Given the description of an element on the screen output the (x, y) to click on. 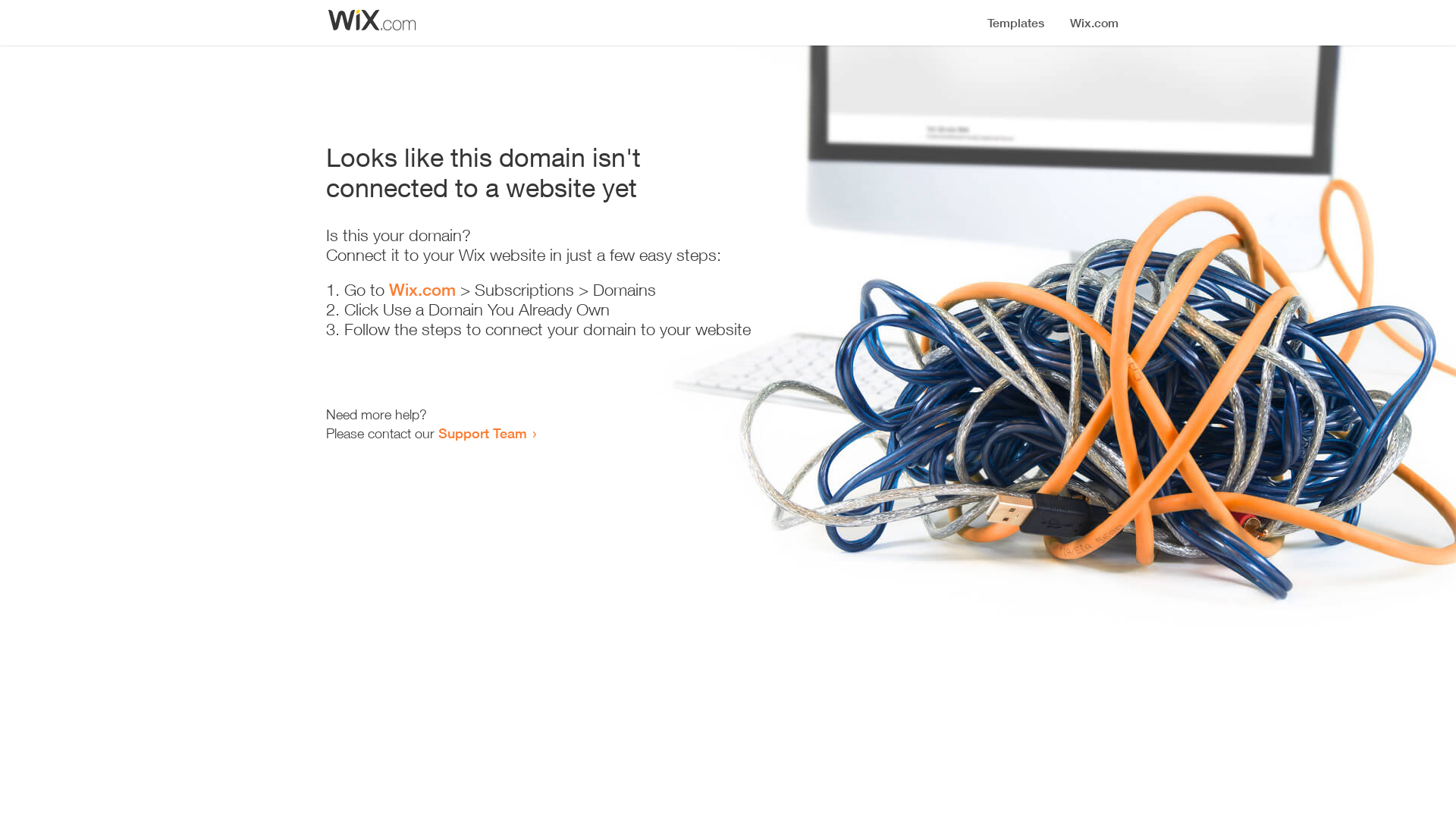
Wix.com Element type: text (422, 289)
Support Team Element type: text (482, 432)
